Given the description of an element on the screen output the (x, y) to click on. 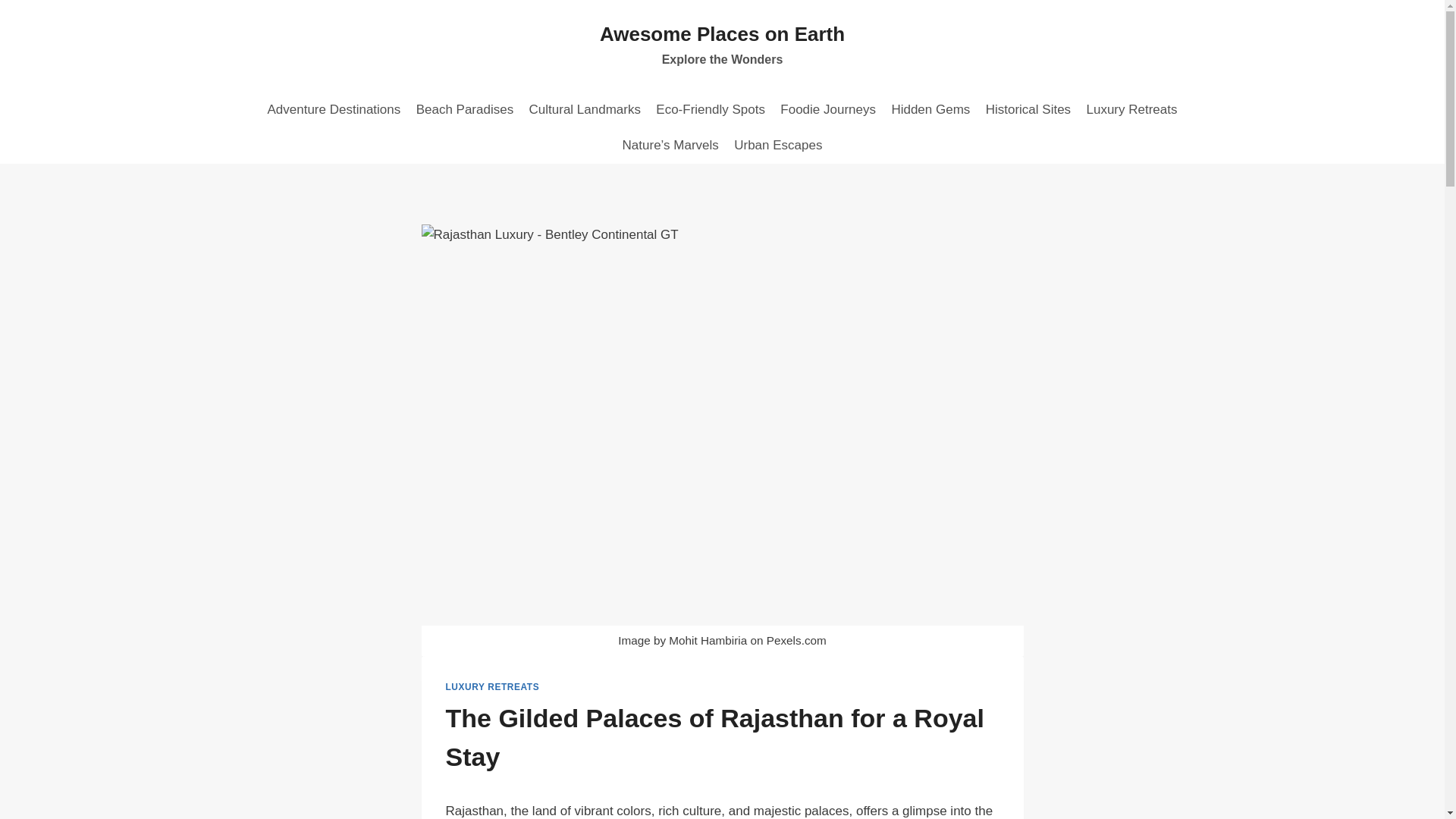
LUXURY RETREATS (492, 686)
Beach Paradises (464, 109)
Adventure Destinations (333, 109)
Eco-Friendly Spots (721, 45)
Cultural Landmarks (710, 109)
Urban Escapes (584, 109)
Hidden Gems (777, 145)
Historical Sites (929, 109)
Foodie Journeys (1028, 109)
